Given the description of an element on the screen output the (x, y) to click on. 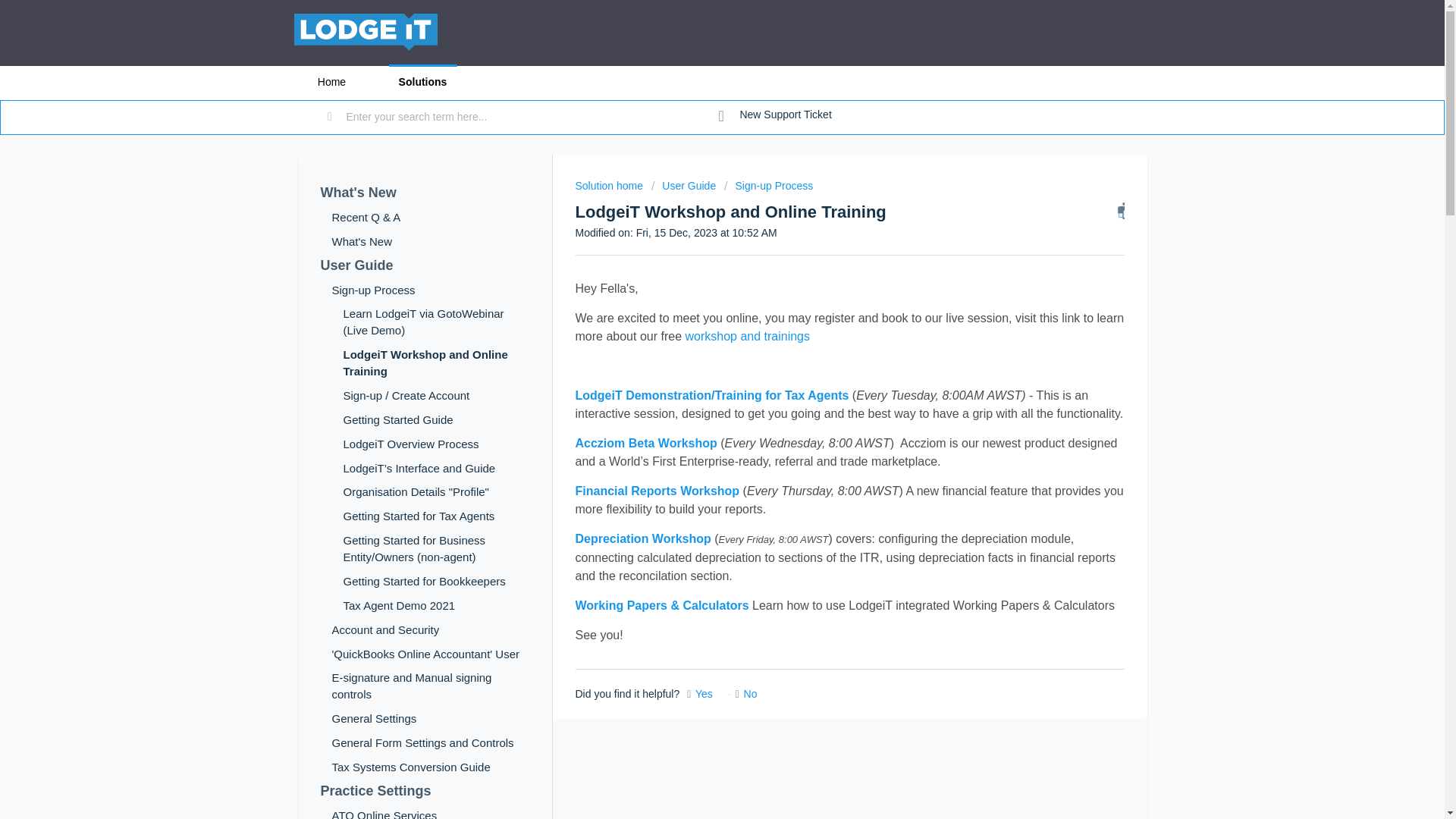
Solutions (422, 81)
What's New (424, 193)
What's New (424, 193)
New support ticket (775, 114)
Home (331, 81)
New Support Ticket (775, 114)
